Given the description of an element on the screen output the (x, y) to click on. 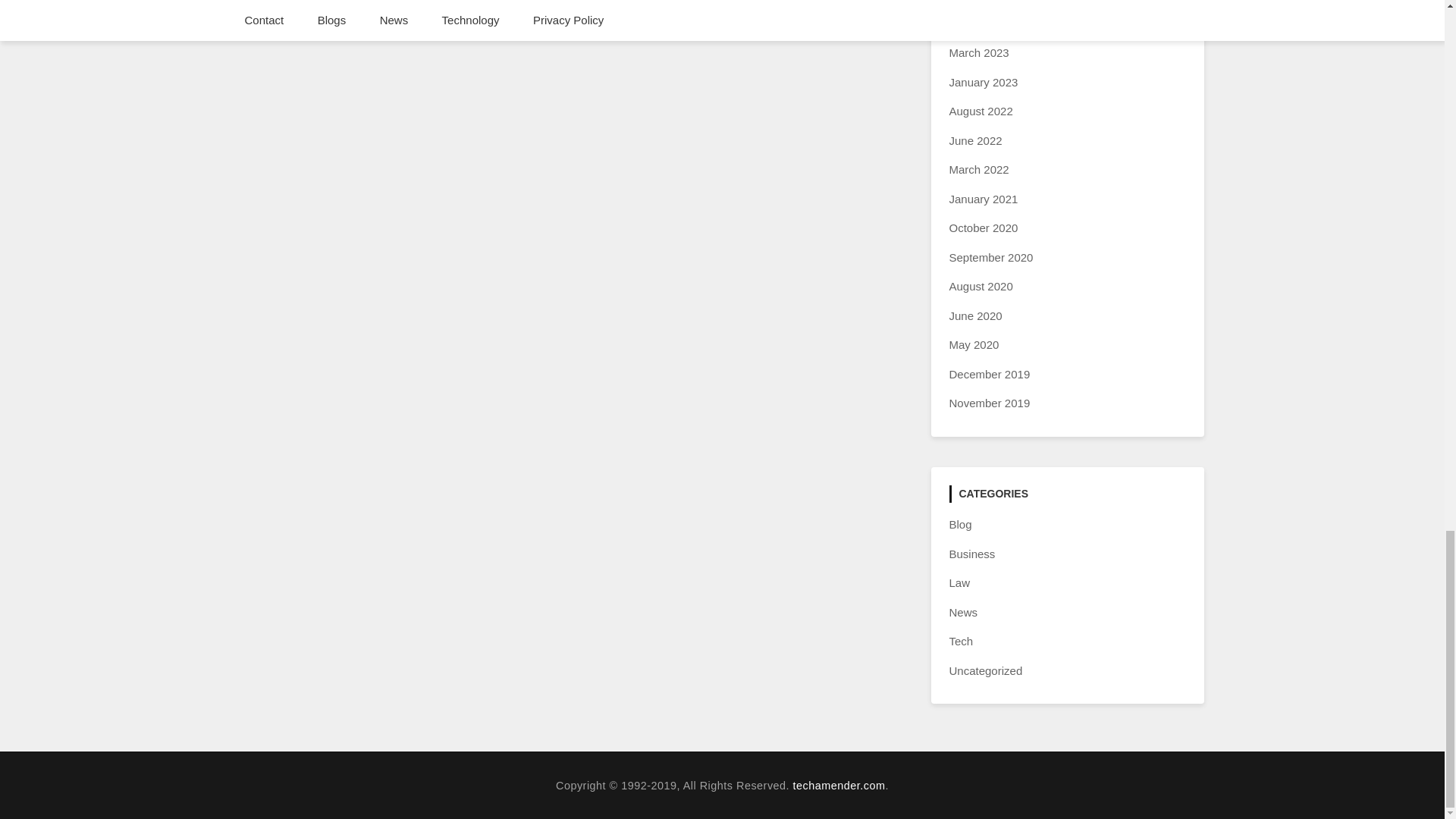
March 2023 (979, 51)
June 2020 (976, 315)
September 2020 (991, 256)
May 2020 (973, 344)
June 2023 (976, 23)
August 2020 (981, 286)
June 2022 (976, 140)
November 2019 (989, 402)
August 2022 (981, 110)
October 2020 (983, 227)
January 2023 (983, 82)
March 2022 (979, 169)
January 2021 (983, 198)
December 2019 (989, 373)
